Given the description of an element on the screen output the (x, y) to click on. 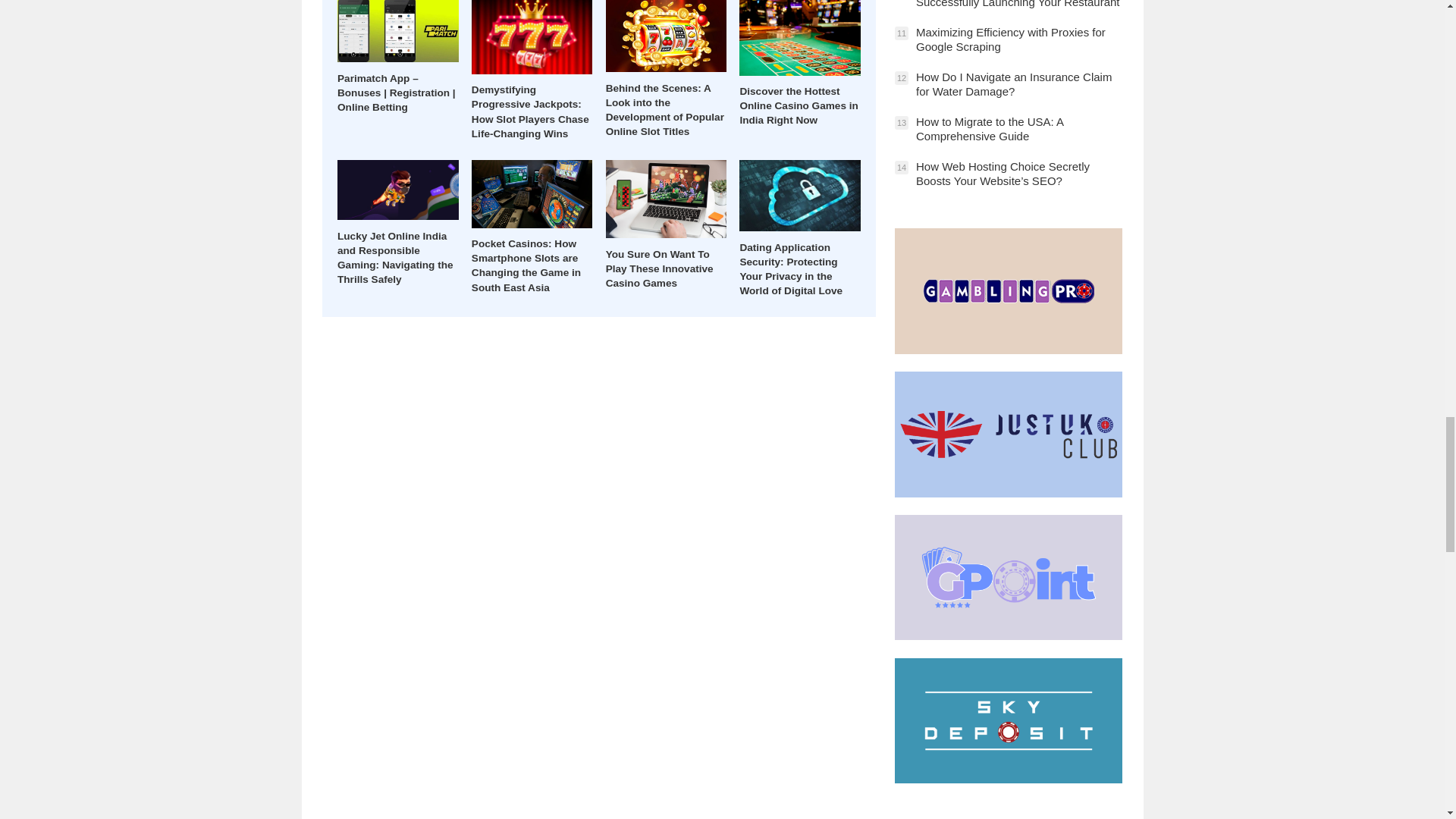
Best Online Casinos NZ (1008, 779)
Non Gamstop Slots (1008, 492)
Non Gamstop Gamble (1008, 349)
Payment Methods at Non Gamstop casinos (1008, 635)
